Given the description of an element on the screen output the (x, y) to click on. 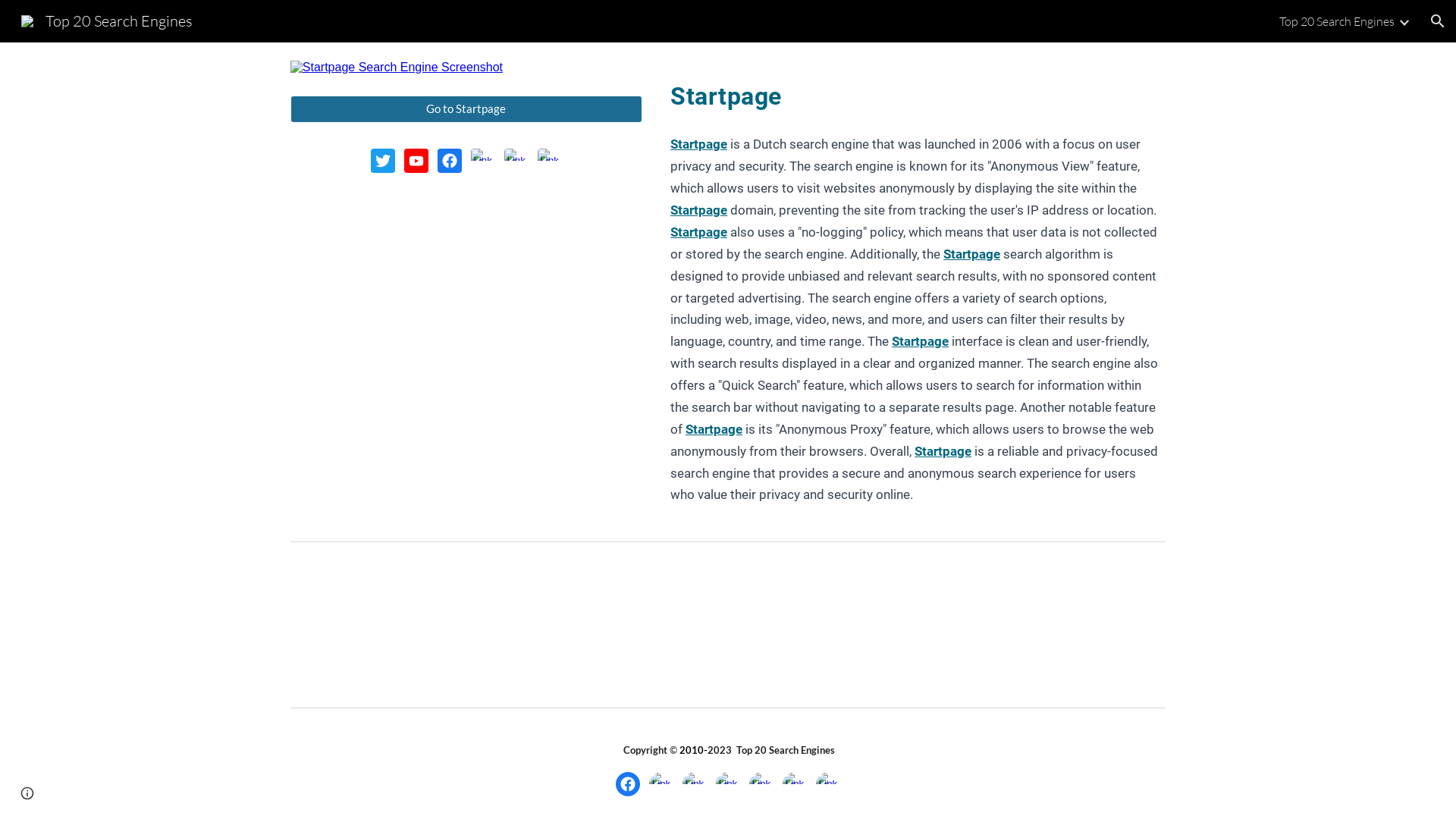
Startpage Element type: text (919, 341)
Expand/Collapse Element type: hover (1403, 20)
Startpage Element type: text (698, 209)
Startpage Element type: text (698, 144)
Startpage Element type: text (698, 231)
Startpage Element type: text (971, 253)
Top 20 Search Engines Element type: text (1336, 20)
Startpage Element type: text (713, 429)
Top 20 Search Engines Element type: text (106, 18)
Startpage Element type: text (725, 91)
Startpage Element type: text (942, 451)
Go to Startpage Element type: text (466, 108)
